Given the description of an element on the screen output the (x, y) to click on. 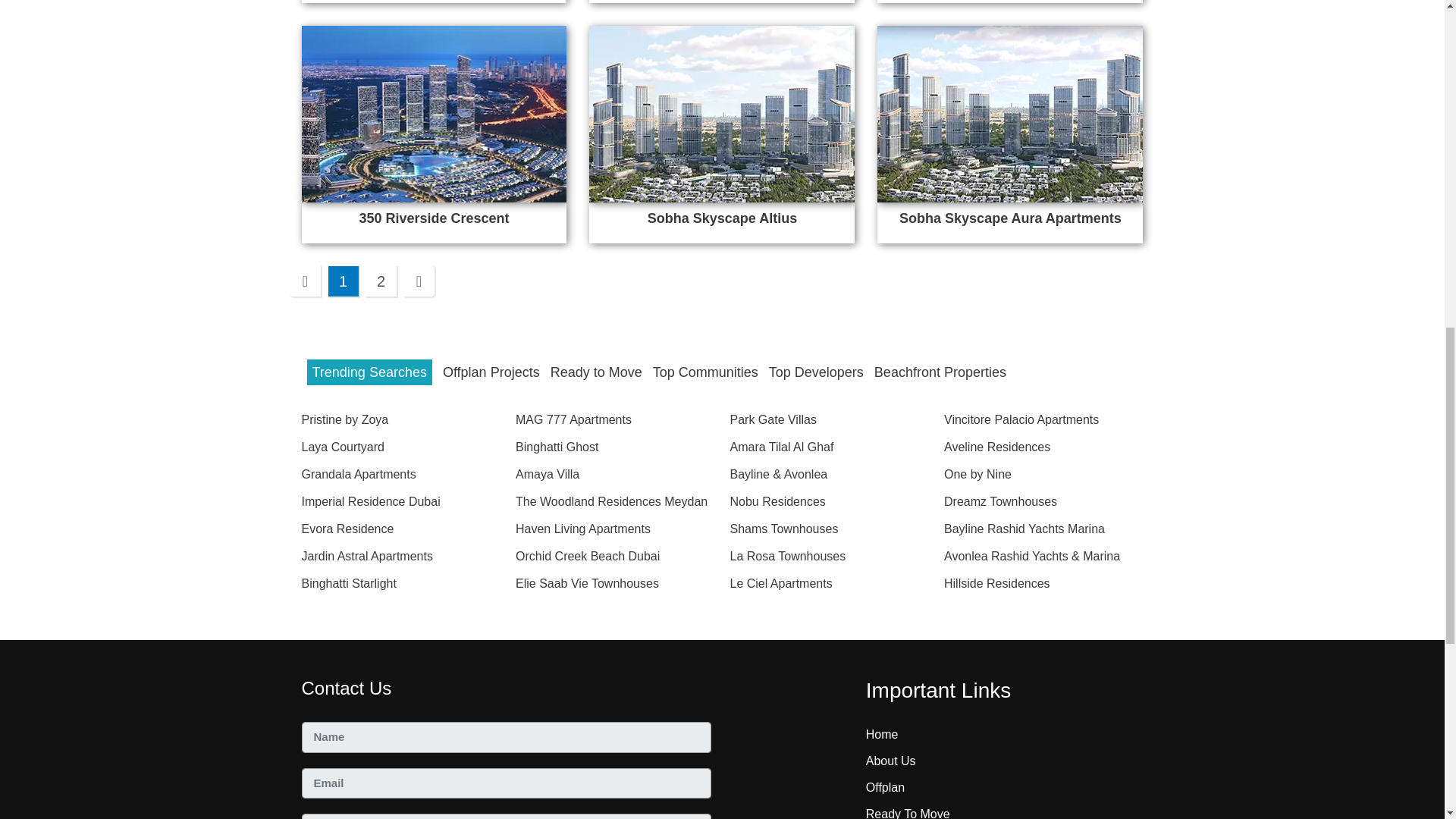
Top Developers (815, 372)
Sobha Skyscape Aura Apartments (1010, 218)
Pristine by Zoya (344, 419)
Beachfront Properties (940, 372)
Top Communities (705, 372)
350 Riverside Crescent (434, 113)
Ready to Move (596, 372)
2 (380, 281)
Offplan Projects (491, 372)
Laya Courtyard (342, 446)
